Given the description of an element on the screen output the (x, y) to click on. 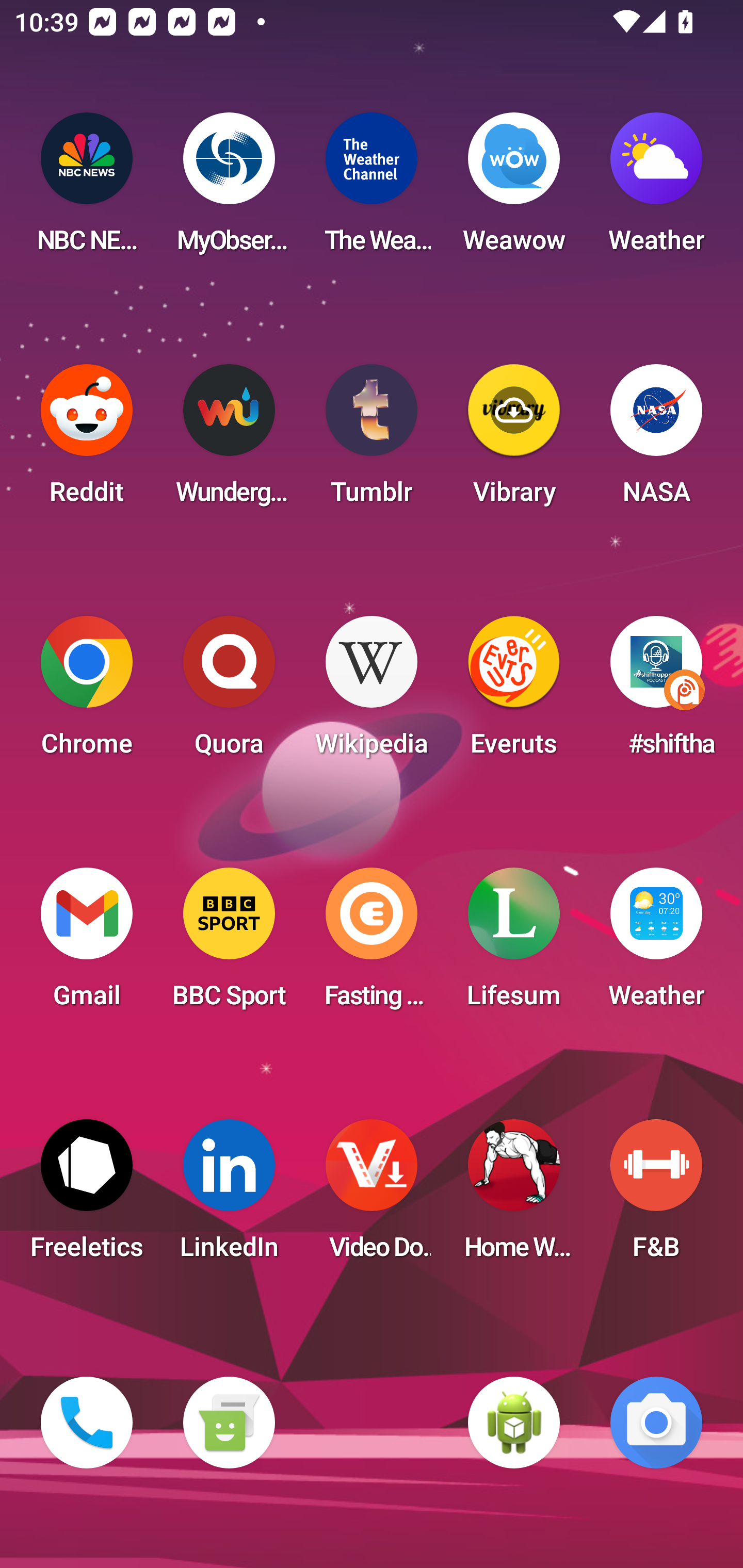
NBC NEWS (86, 188)
MyObservatory (228, 188)
The Weather Channel (371, 188)
Weawow (513, 188)
Weather (656, 188)
Reddit (86, 440)
Wunderground (228, 440)
Tumblr (371, 440)
Vibrary (513, 440)
NASA (656, 440)
Chrome (86, 692)
Quora (228, 692)
Wikipedia (371, 692)
Everuts (513, 692)
#shifthappens in the Digital Workplace Podcast (656, 692)
Gmail (86, 943)
BBC Sport (228, 943)
Fasting Coach (371, 943)
Lifesum (513, 943)
Weather (656, 943)
Freeletics (86, 1195)
LinkedIn (228, 1195)
Video Downloader & Ace Player (371, 1195)
Home Workout (513, 1195)
F&B (656, 1195)
Phone (86, 1422)
Messaging (228, 1422)
WebView Browser Tester (513, 1422)
Camera (656, 1422)
